Given the description of an element on the screen output the (x, y) to click on. 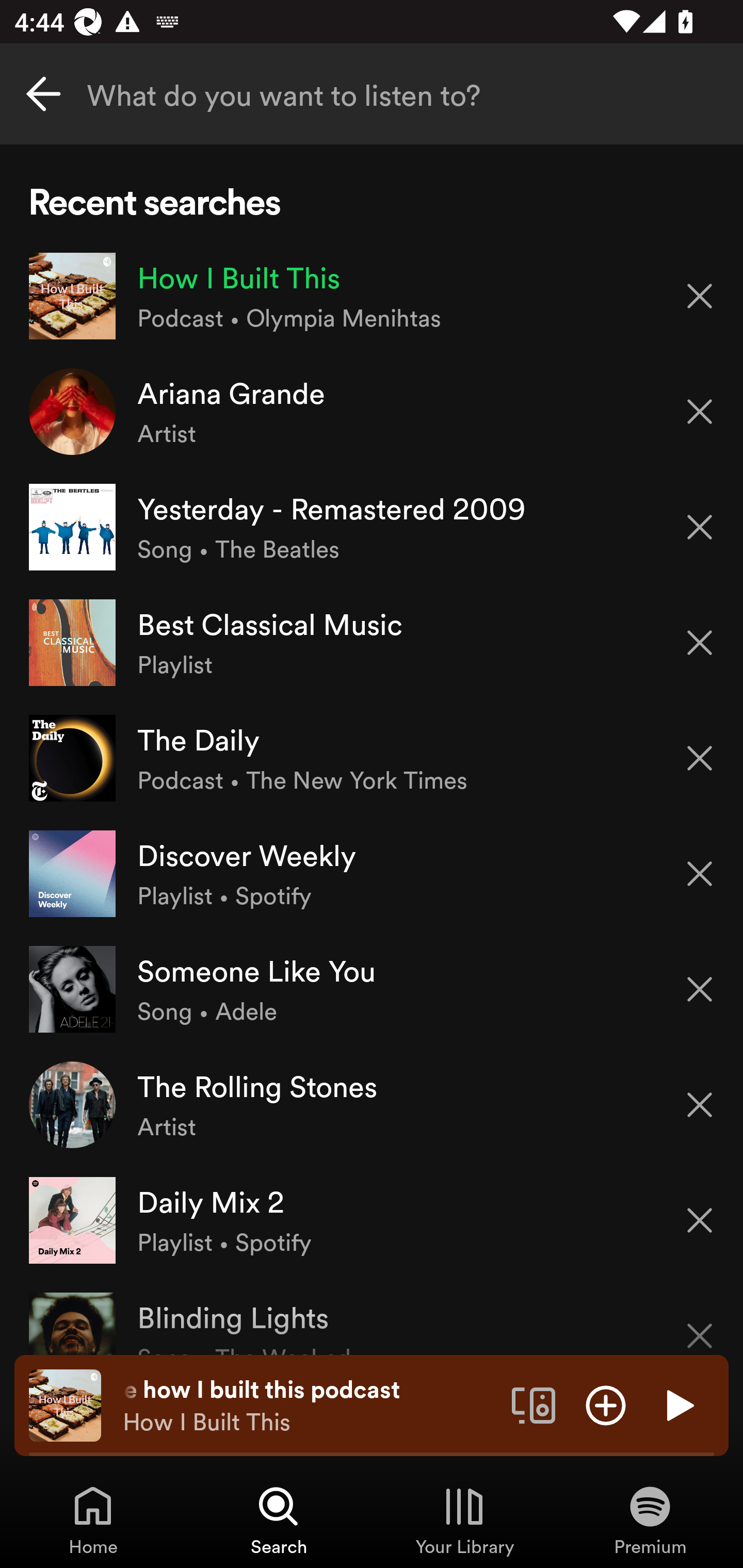
What do you want to listen to? (371, 93)
Cancel (43, 93)
Remove (699, 295)
Ariana Grande Artist Remove (371, 411)
Remove (699, 411)
Remove (699, 527)
Best Classical Music Playlist Remove (371, 642)
Remove (699, 642)
The Daily Podcast • The New York Times Remove (371, 757)
Remove (699, 758)
Discover Weekly Playlist • Spotify Remove (371, 873)
Remove (699, 874)
Someone Like You Song • Adele Remove (371, 989)
Remove (699, 989)
The Rolling Stones Artist Remove (371, 1104)
Remove (699, 1104)
Daily Mix 2 Playlist • Spotify Remove (371, 1219)
Remove (699, 1220)
Blinding Lights Song • The Weeknd Remove (371, 1315)
Remove (699, 1323)
The cover art of the currently playing track (64, 1404)
Connect to a device. Opens the devices menu (533, 1404)
Add item (605, 1404)
Play (677, 1404)
Home, Tab 1 of 4 Home Home (92, 1519)
Search, Tab 2 of 4 Search Search (278, 1519)
Your Library, Tab 3 of 4 Your Library Your Library (464, 1519)
Premium, Tab 4 of 4 Premium Premium (650, 1519)
